Given the description of an element on the screen output the (x, y) to click on. 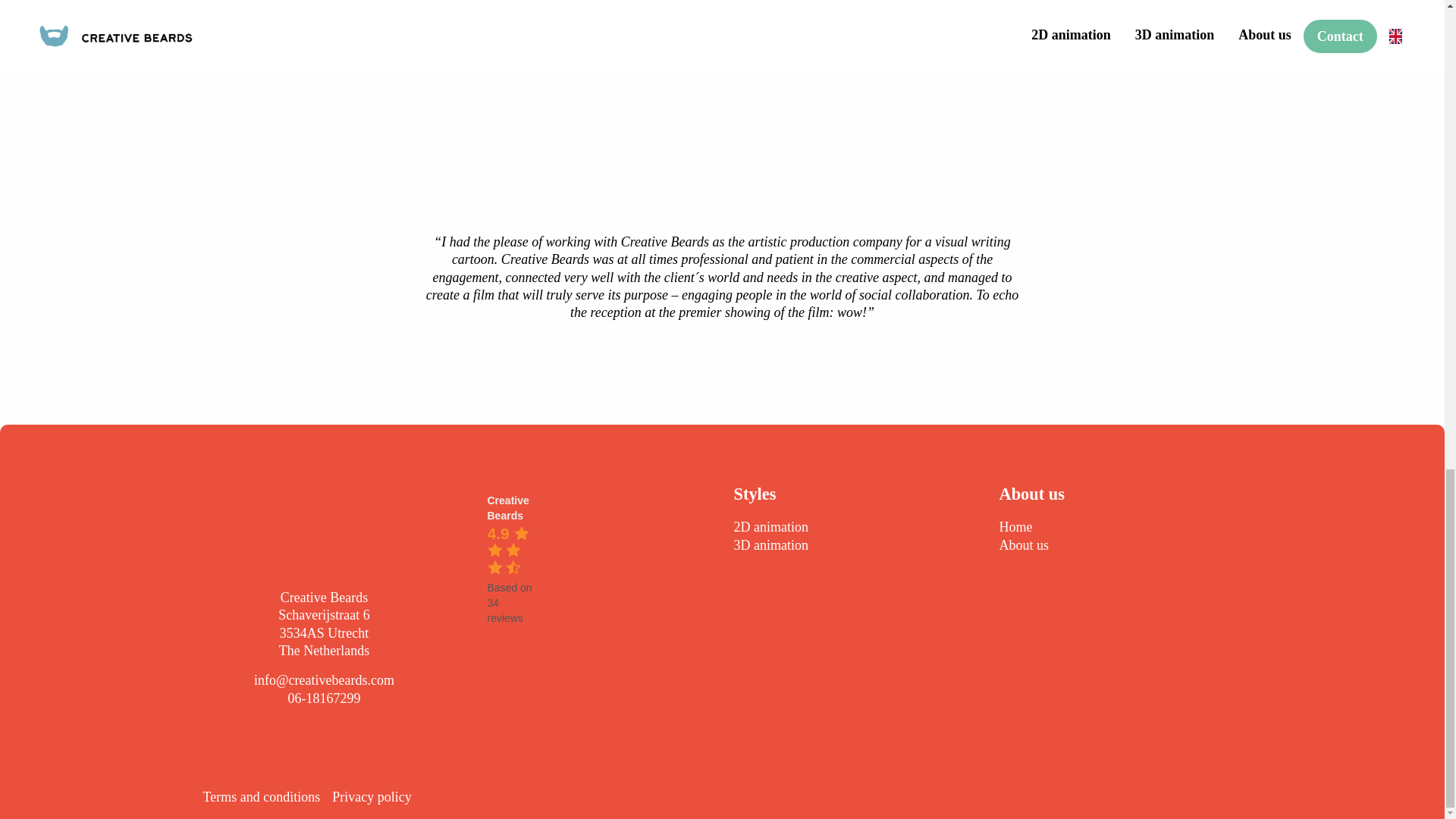
Privacy policy (377, 796)
Creative Beards (507, 507)
About us (1023, 545)
powered by Google (509, 638)
2D animation (770, 527)
Terms and conditions (268, 796)
Home (1015, 527)
3D animation (770, 545)
